Given the description of an element on the screen output the (x, y) to click on. 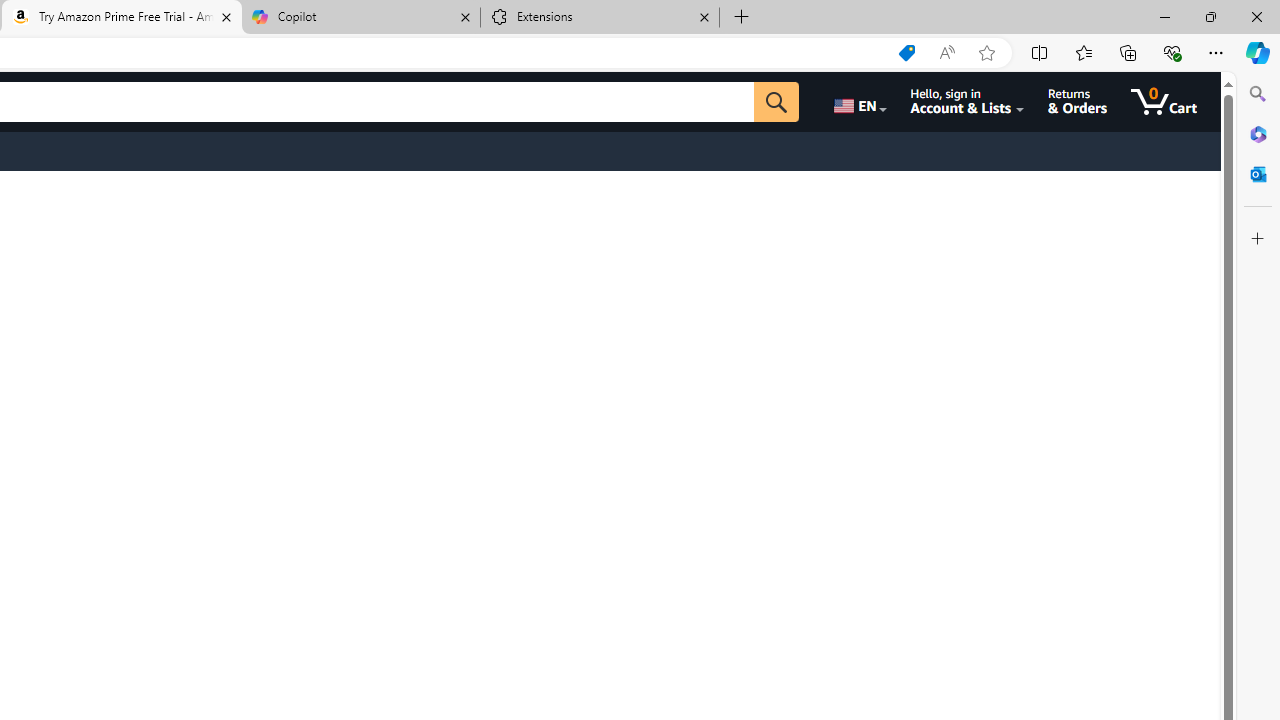
Minimize (1164, 16)
Collections (1128, 52)
Search (1258, 94)
Close (1256, 16)
Customize (1258, 239)
Go (776, 101)
Split screen (1039, 52)
Shopping in Microsoft Edge (906, 53)
Browser essentials (1171, 52)
Returns & Orders (1077, 101)
